Given the description of an element on the screen output the (x, y) to click on. 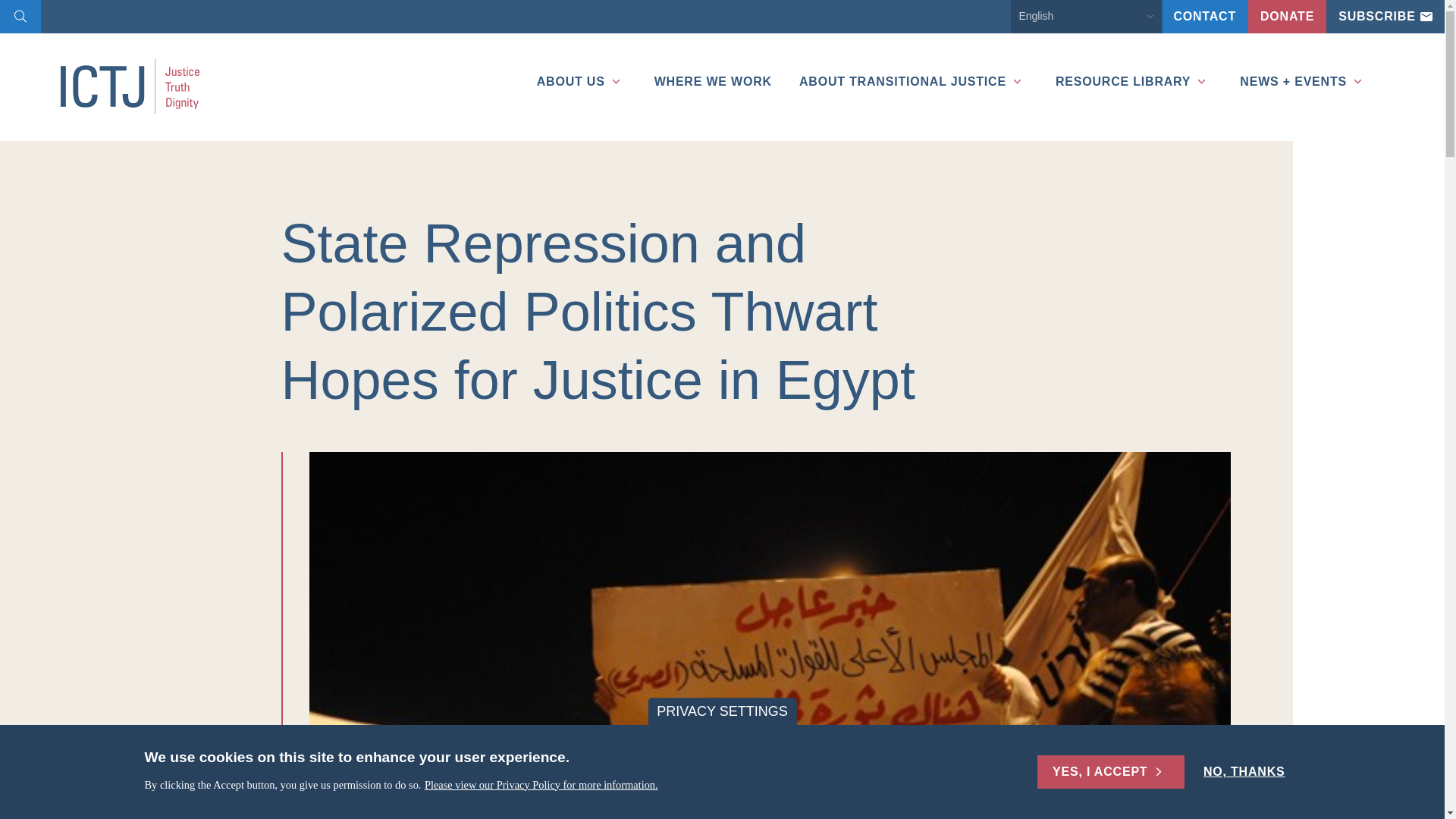
Skip to main content (3, 3)
Search (20, 18)
PRIVACY SETTINGS (721, 711)
WHERE WE WORK (706, 62)
Home (140, 85)
Please view our Privacy Policy for more information. (541, 784)
RESOURCE LIBRARY (1127, 62)
ABOUT US (575, 62)
YES, I ACCEPT (1110, 771)
DONATE (1286, 16)
ABOUT TRANSITIONAL JUSTICE (906, 62)
NO, THANKS (1244, 771)
CONTACT (1203, 16)
